Given the description of an element on the screen output the (x, y) to click on. 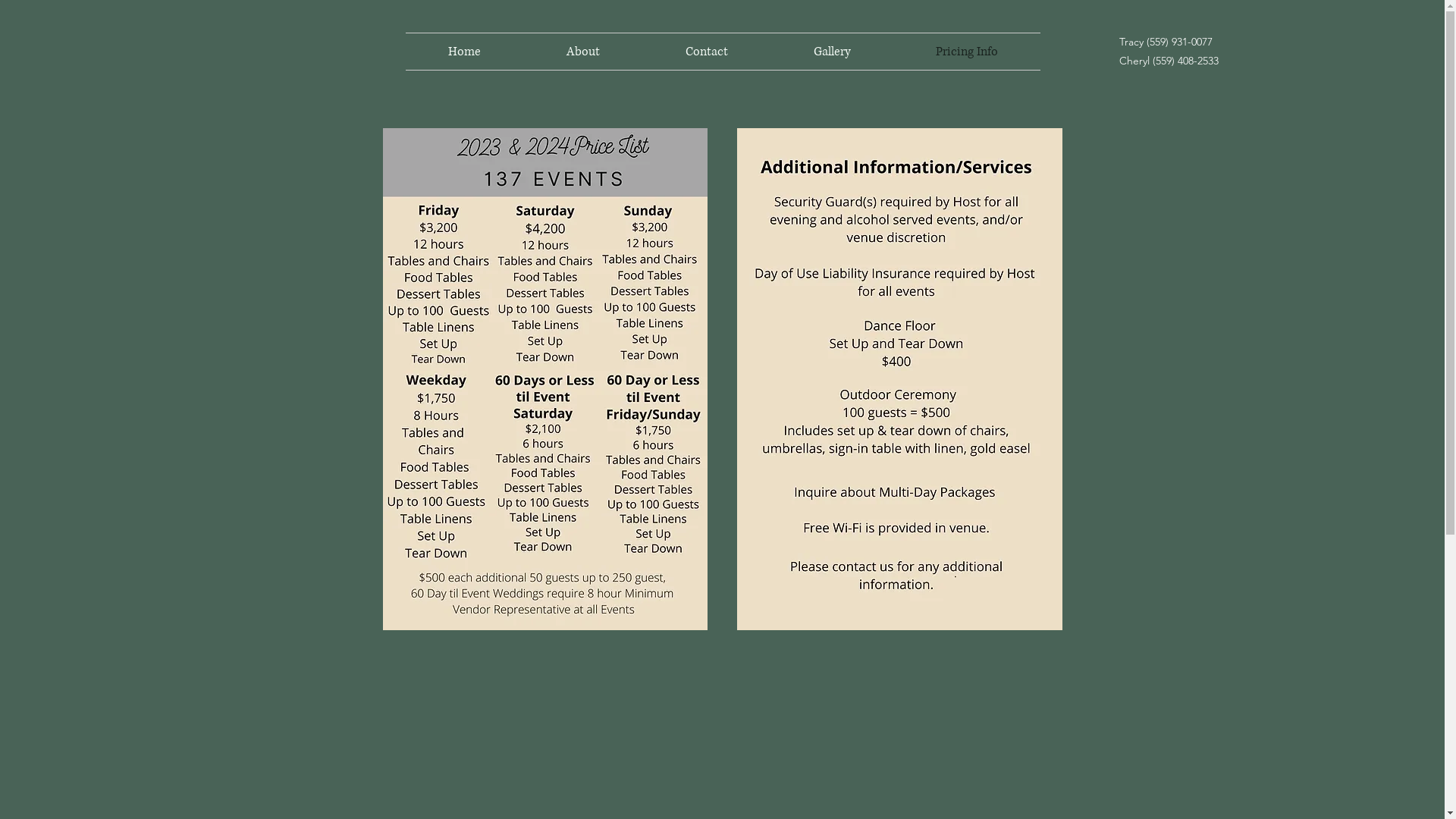
About Element type: text (582, 51)
1.jpg Element type: hover (544, 379)
Edited Price List (3).jpg Element type: hover (899, 379)
Gallery Element type: text (831, 51)
Pricing Info Element type: text (966, 51)
Home Element type: text (463, 51)
Contact Element type: text (707, 51)
